Given the description of an element on the screen output the (x, y) to click on. 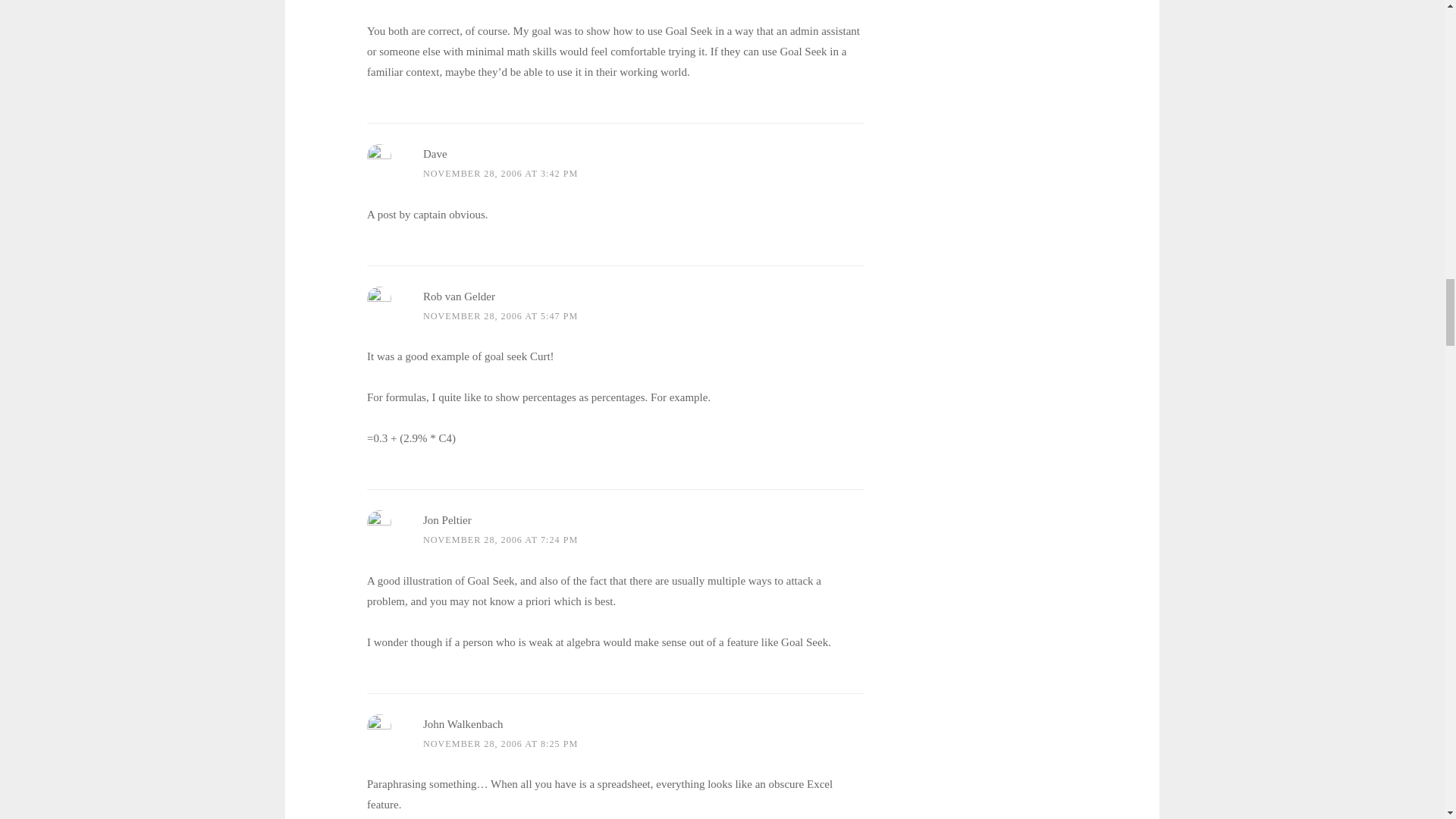
NOVEMBER 28, 2006 AT 3:42 PM (500, 173)
Jon Peltier (447, 520)
Rob van Gelder (459, 296)
NOVEMBER 28, 2006 AT 8:25 PM (500, 743)
NOVEMBER 28, 2006 AT 7:24 PM (500, 539)
John Walkenbach (463, 724)
NOVEMBER 28, 2006 AT 5:47 PM (500, 316)
